Given the description of an element on the screen output the (x, y) to click on. 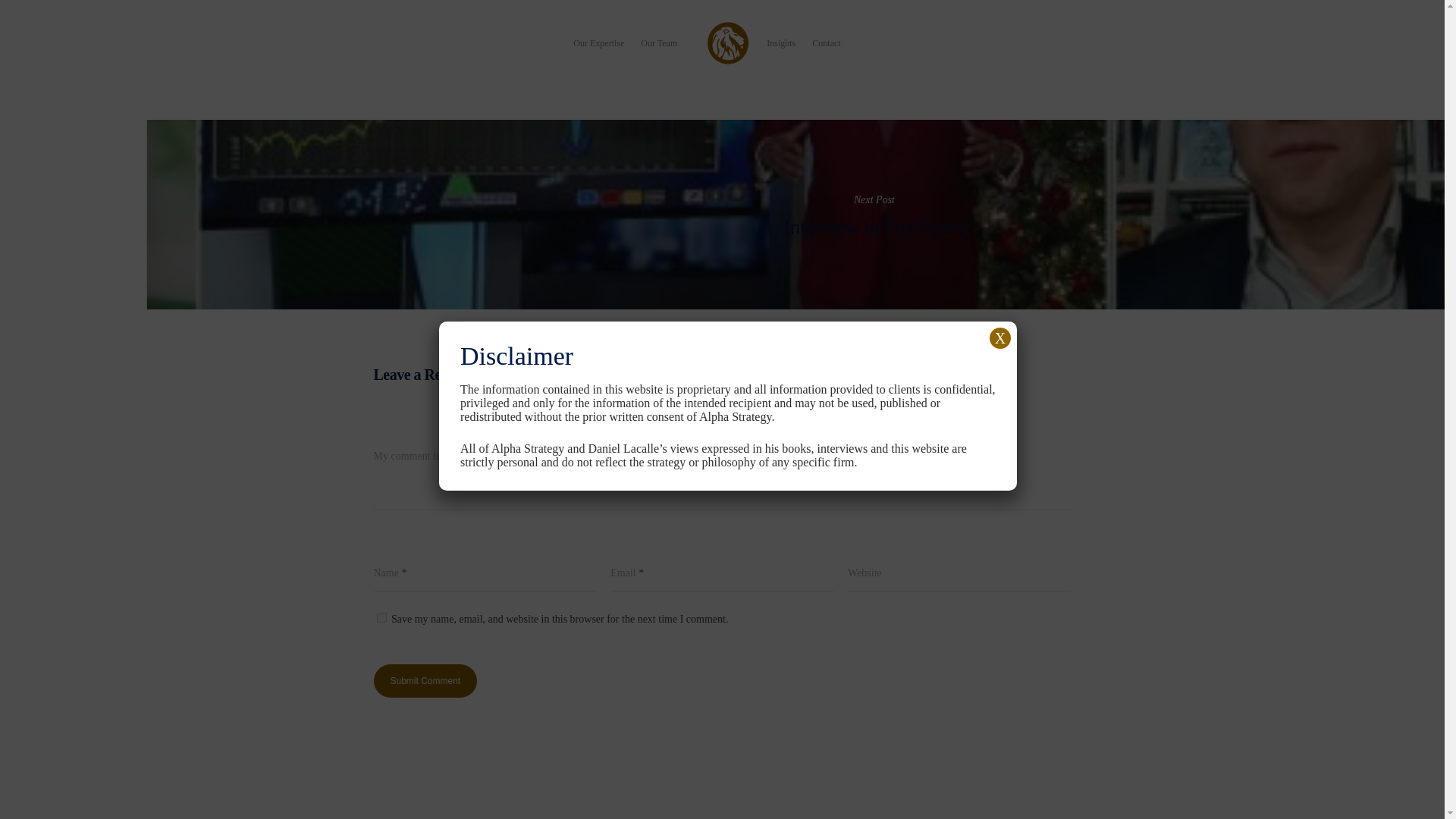
Submit Comment (424, 680)
